Given the description of an element on the screen output the (x, y) to click on. 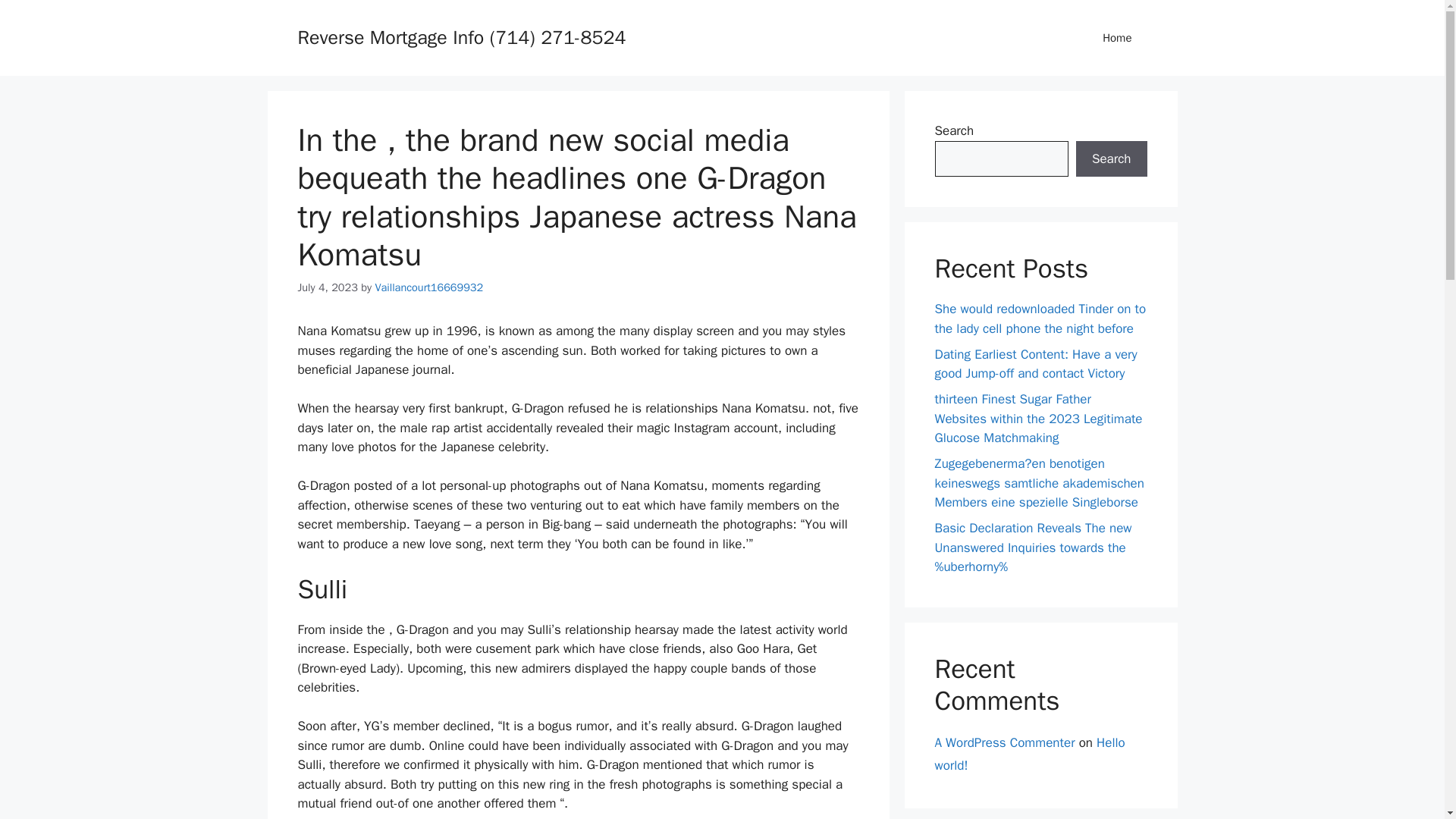
Hello world! (1029, 753)
View all posts by Vaillancourt16669932 (428, 287)
A WordPress Commenter (1004, 741)
Home (1117, 37)
Vaillancourt16669932 (428, 287)
Search (1111, 158)
